Given the description of an element on the screen output the (x, y) to click on. 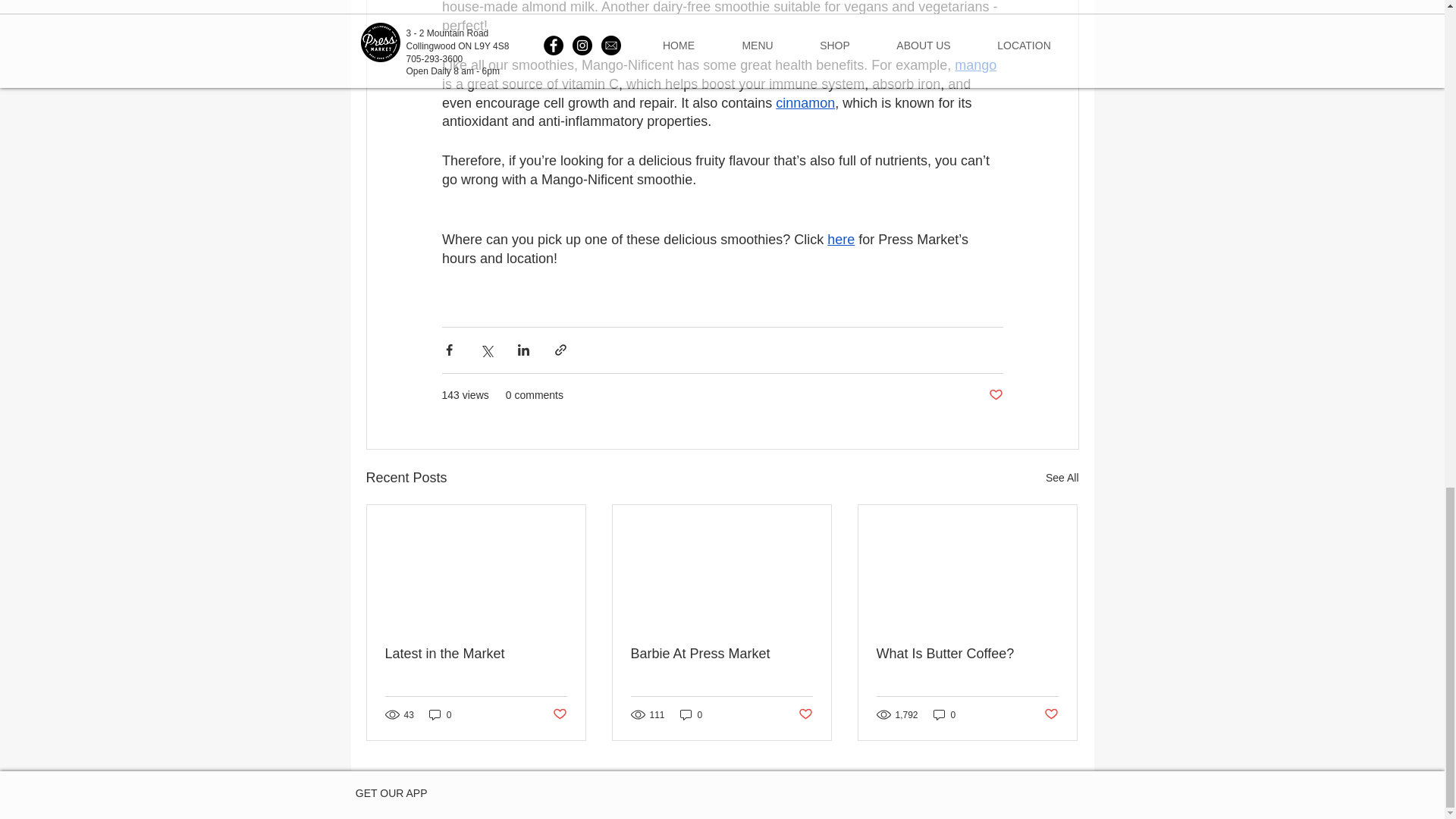
Latest in the Market (476, 653)
cinnamon (805, 102)
0 (944, 714)
here (840, 239)
See All (1061, 477)
0 (440, 714)
Post not marked as liked (1050, 714)
What Is Butter Coffee? (967, 653)
0 (691, 714)
mango (975, 64)
Post not marked as liked (558, 714)
Post not marked as liked (995, 395)
Barbie At Press Market (721, 653)
Post not marked as liked (804, 714)
